Given the description of an element on the screen output the (x, y) to click on. 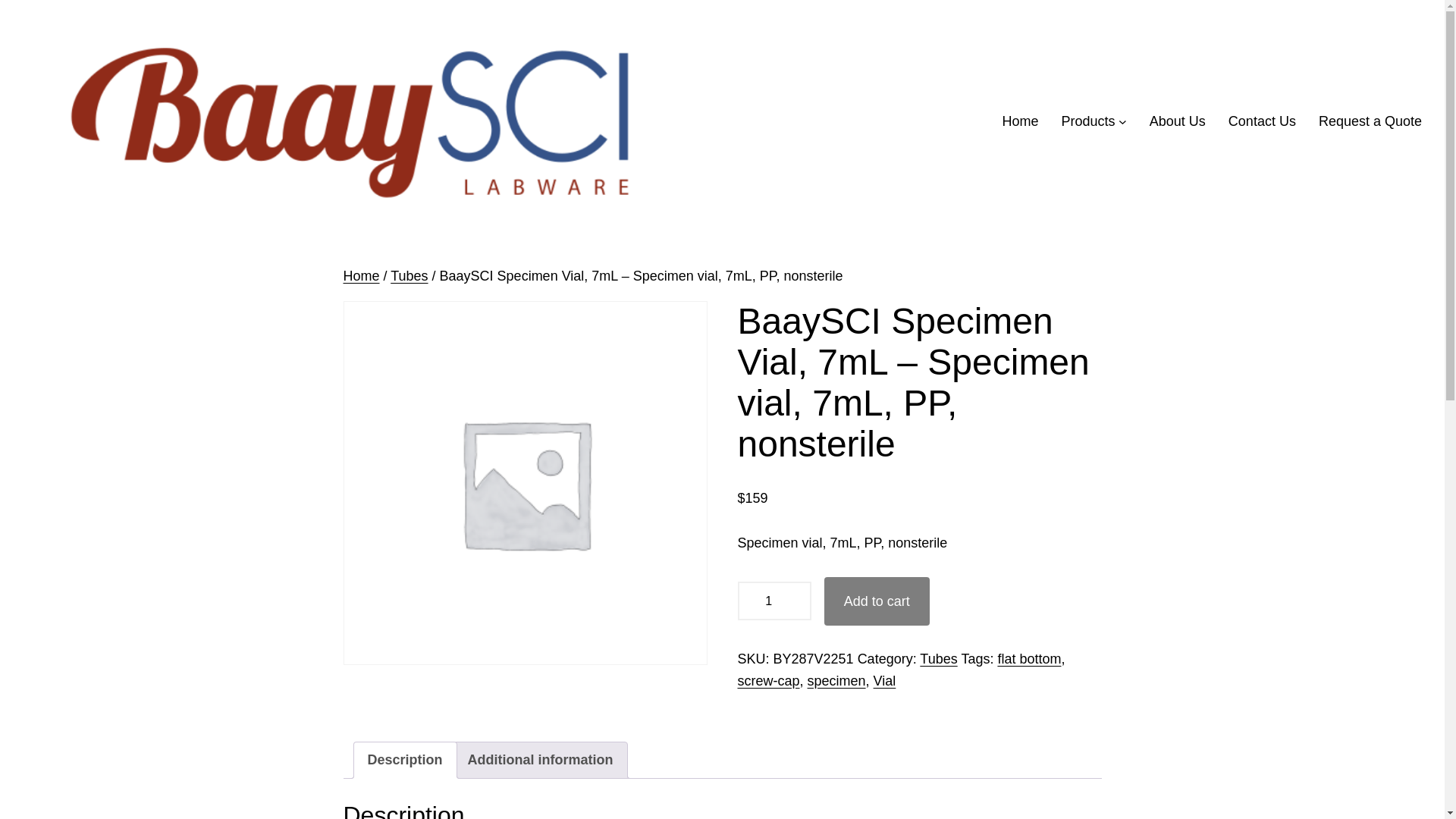
About Us (1177, 121)
Add to cart (877, 601)
flat bottom (1029, 658)
Home (360, 275)
Vial (884, 680)
Additional information (539, 760)
Products (1088, 121)
Tubes (409, 275)
screw-cap (767, 680)
1 (773, 600)
Tubes (938, 658)
Contact Us (1261, 121)
About Us (1177, 121)
specimen (837, 680)
Description (404, 760)
